Given the description of an element on the screen output the (x, y) to click on. 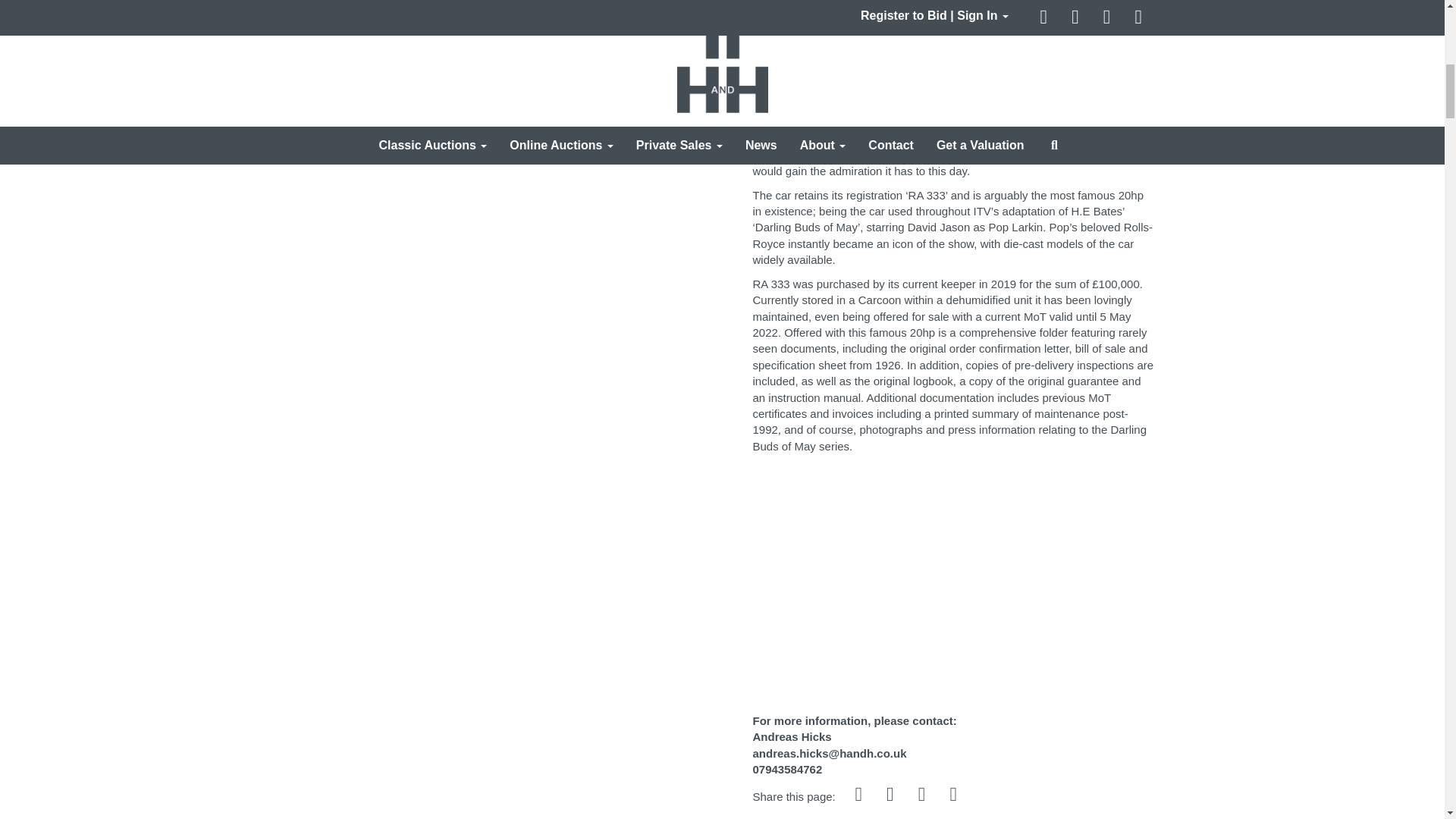
Share via email (954, 796)
Go to our instagram page (922, 796)
Share on Facebook (860, 796)
Tweet this page (892, 796)
YouTube video player (964, 581)
